Given the description of an element on the screen output the (x, y) to click on. 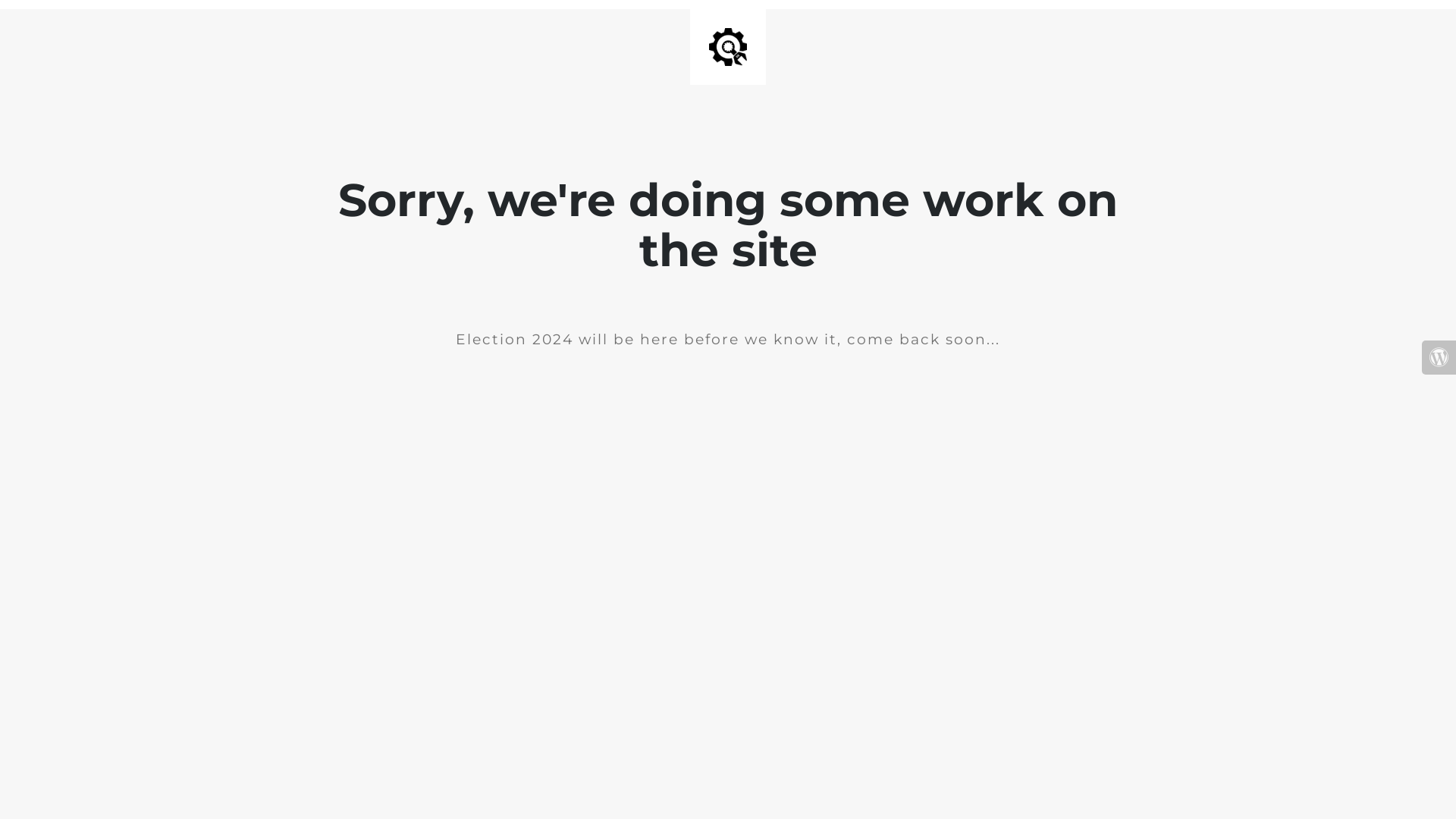
Site is Under Construction Element type: hover (727, 46)
